Given the description of an element on the screen output the (x, y) to click on. 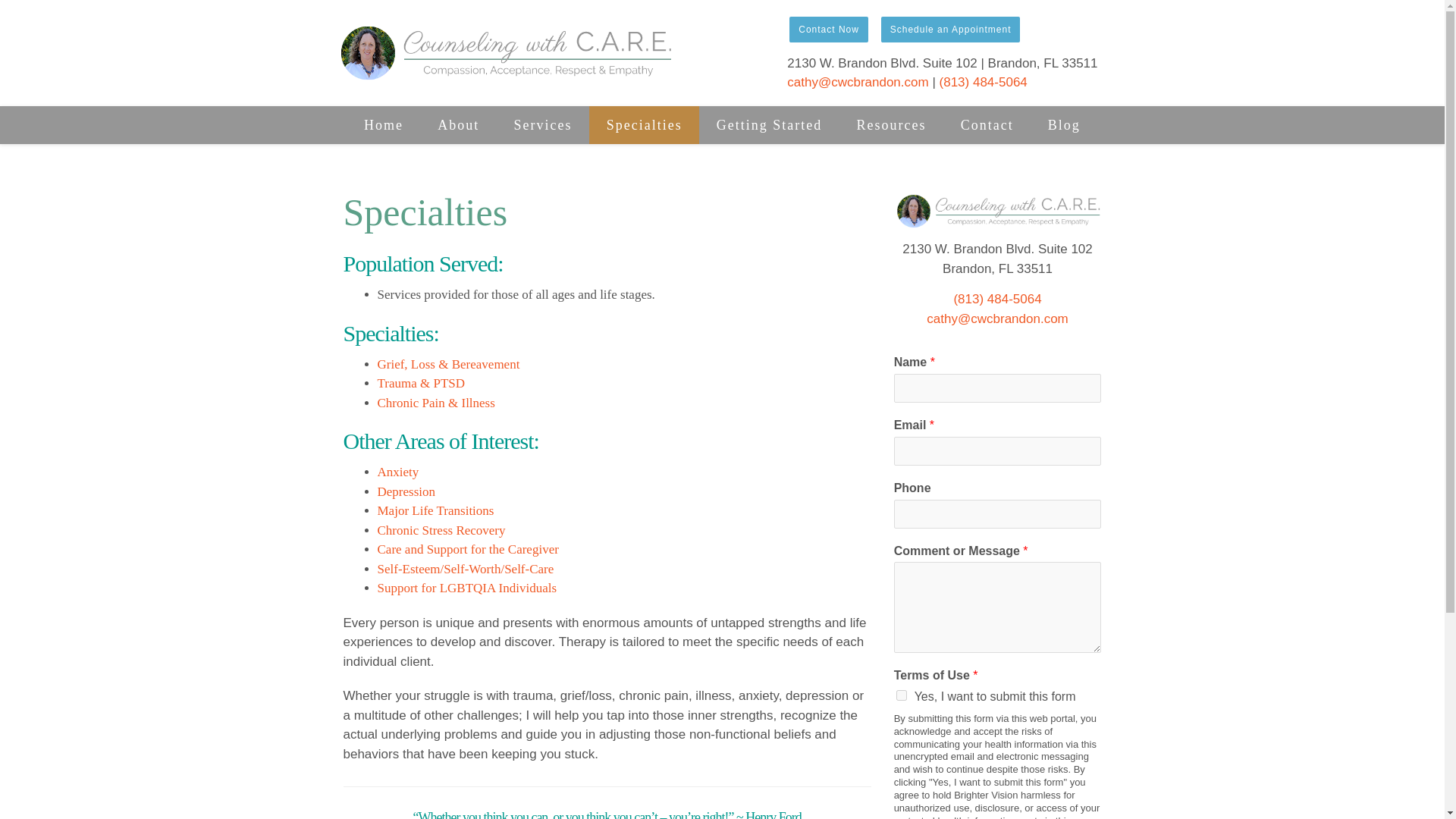
Getting Started (769, 125)
Blog (1063, 125)
Home (383, 125)
Yes, I want to submit this form (901, 695)
Services (542, 125)
Resources (891, 125)
Schedule an Appointment (951, 28)
Contact Now (828, 28)
Contact (986, 125)
Specialties (643, 125)
